Given the description of an element on the screen output the (x, y) to click on. 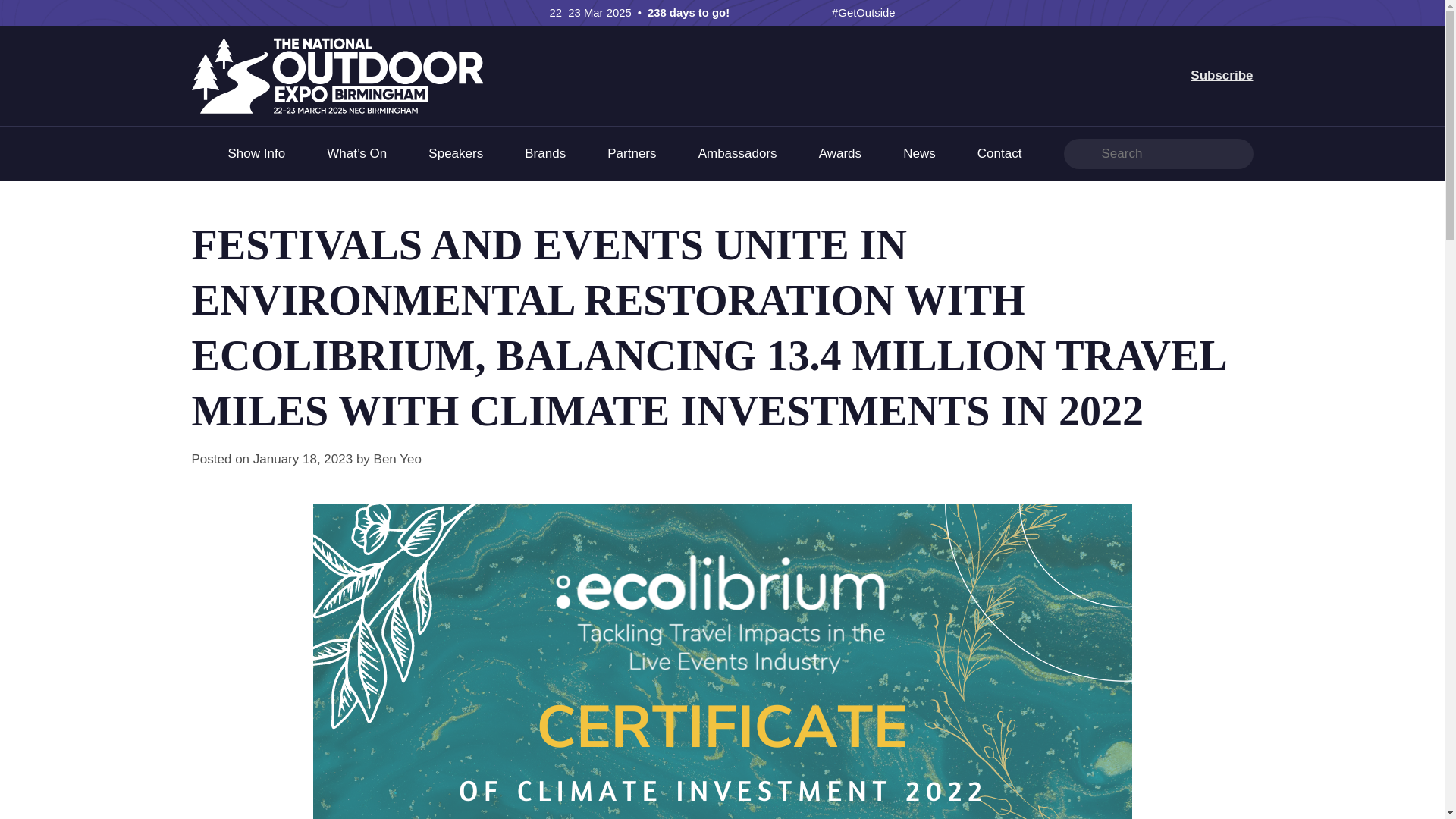
Speakers (455, 153)
Show Info (256, 153)
News (919, 153)
Brands (545, 153)
Contact (999, 153)
Subscribe (1221, 74)
Partners (631, 153)
Awards (839, 153)
Ambassadors (737, 153)
